Given the description of an element on the screen output the (x, y) to click on. 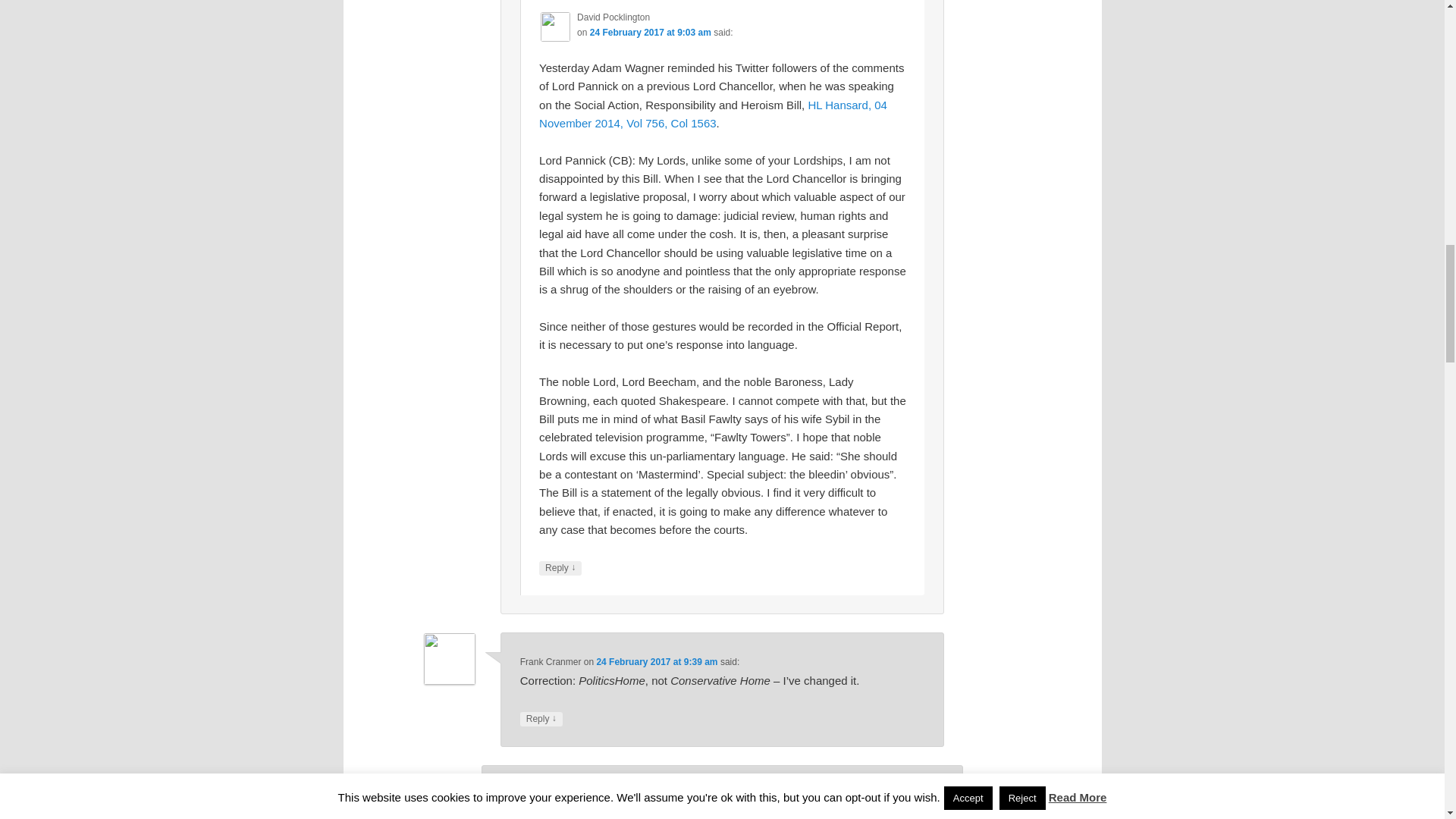
HL Hansard, 04 November 2014, Vol 756, Col 1563 (712, 113)
24 February 2017 at 9:39 am (656, 661)
24 February 2017 at 9:03 am (650, 32)
